Given the description of an element on the screen output the (x, y) to click on. 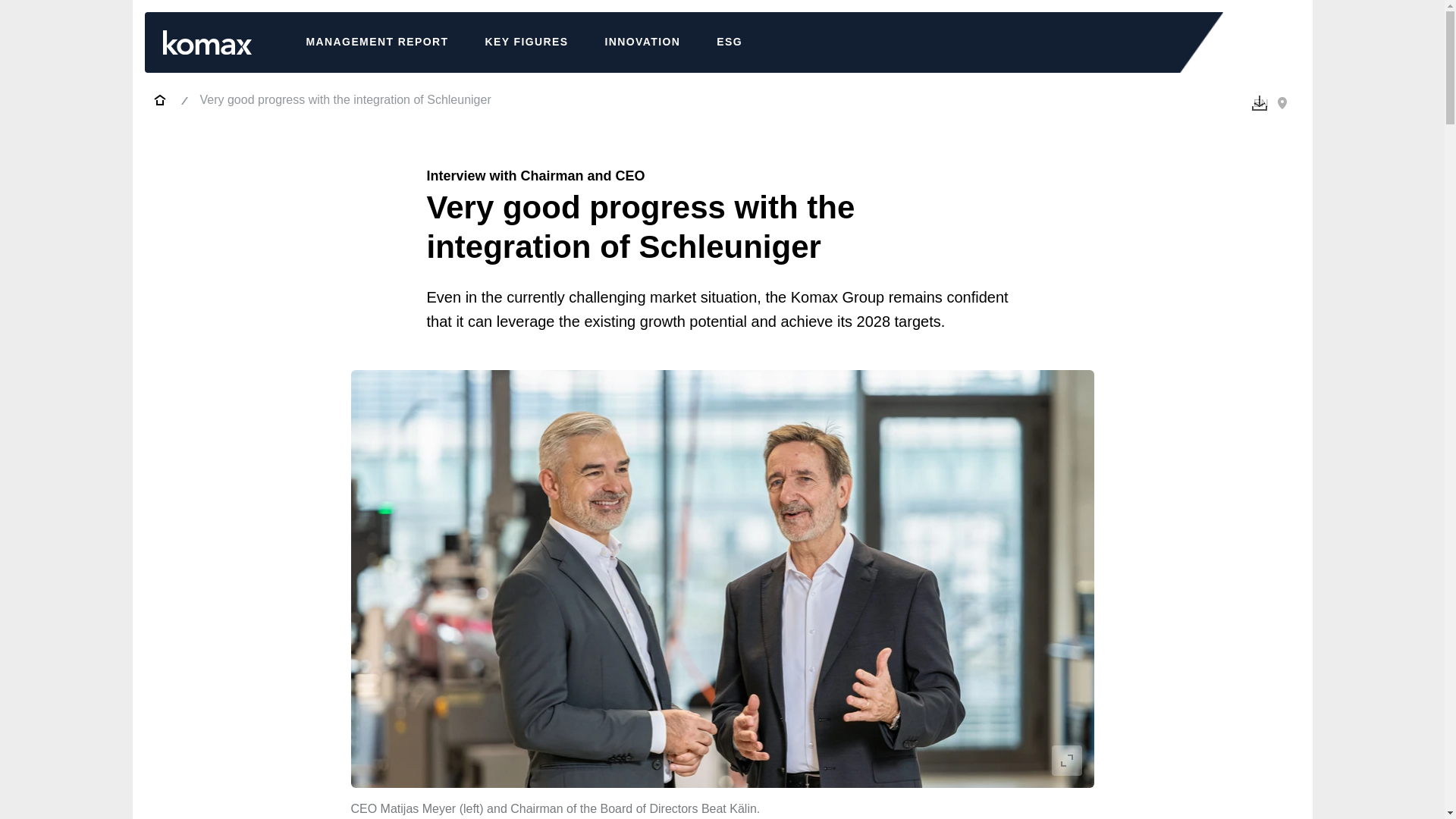
EN (1270, 103)
Annual Report 2023 (159, 100)
INNOVATION (642, 42)
Very good progress with the integration of Schleuniger (346, 99)
Annual Report 2023 (206, 42)
KEY FIGURES (525, 42)
